Given the description of an element on the screen output the (x, y) to click on. 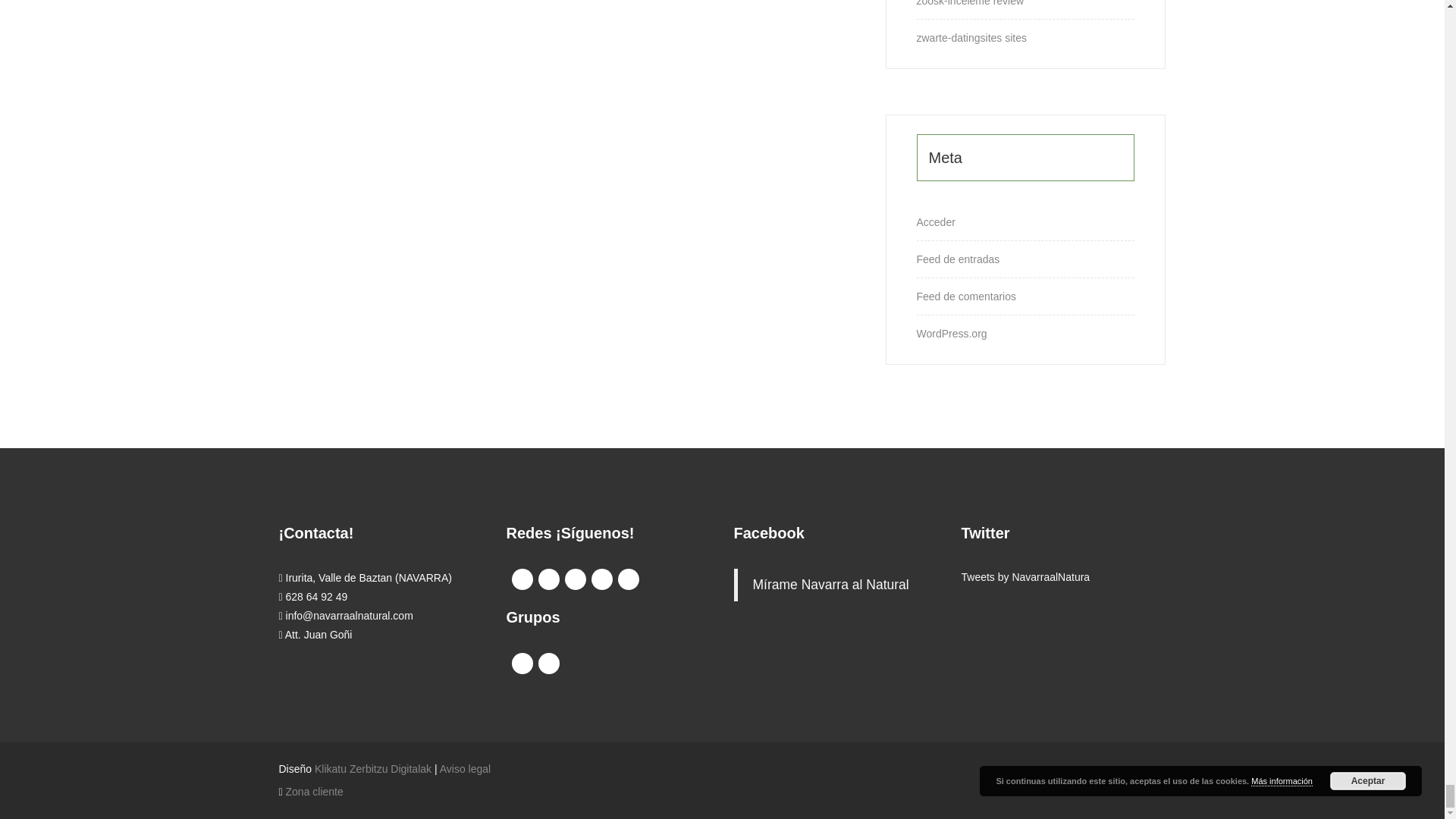
Facebook (521, 578)
